Given the description of an element on the screen output the (x, y) to click on. 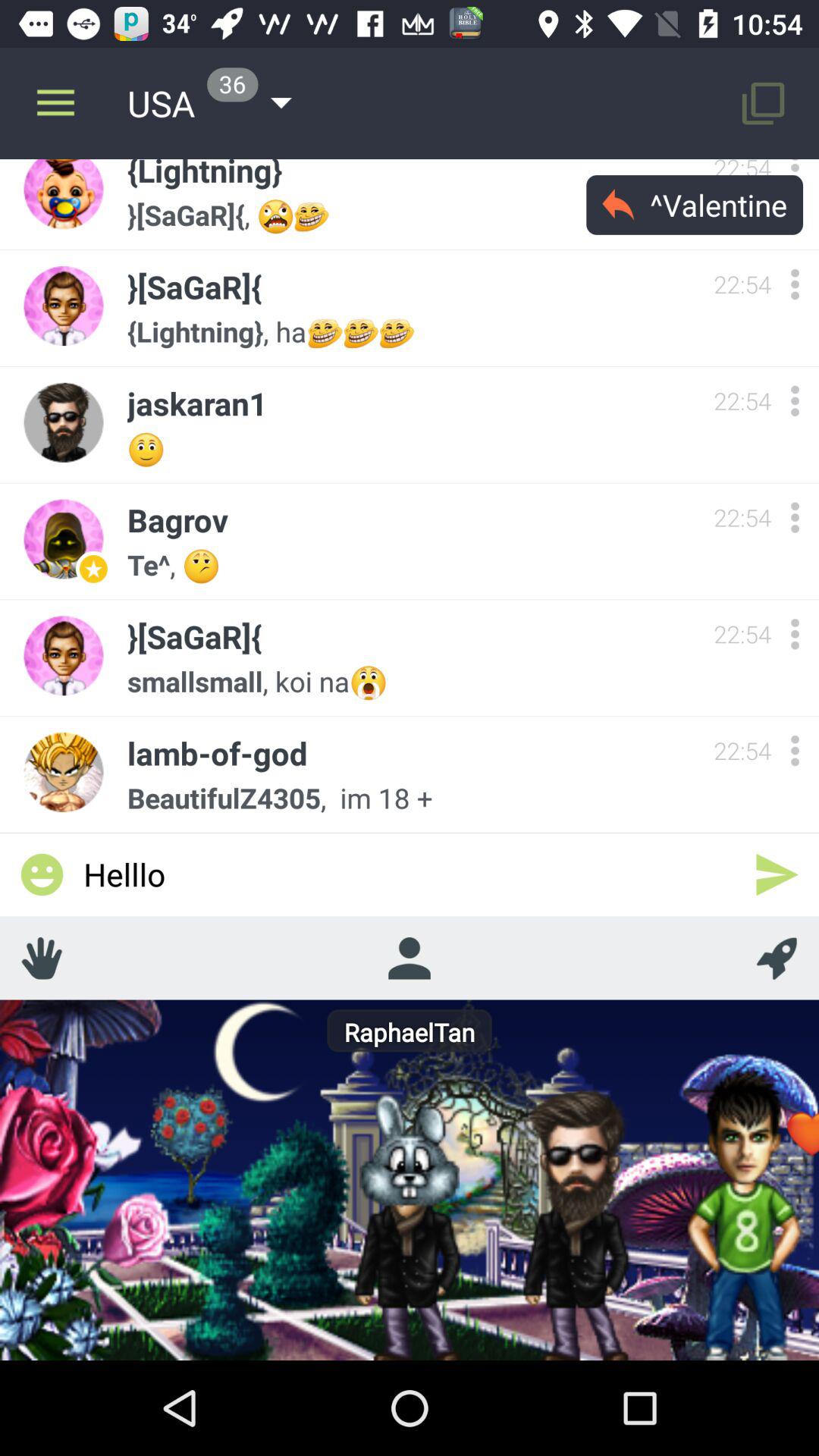
more options user lightning (795, 175)
